Given the description of an element on the screen output the (x, y) to click on. 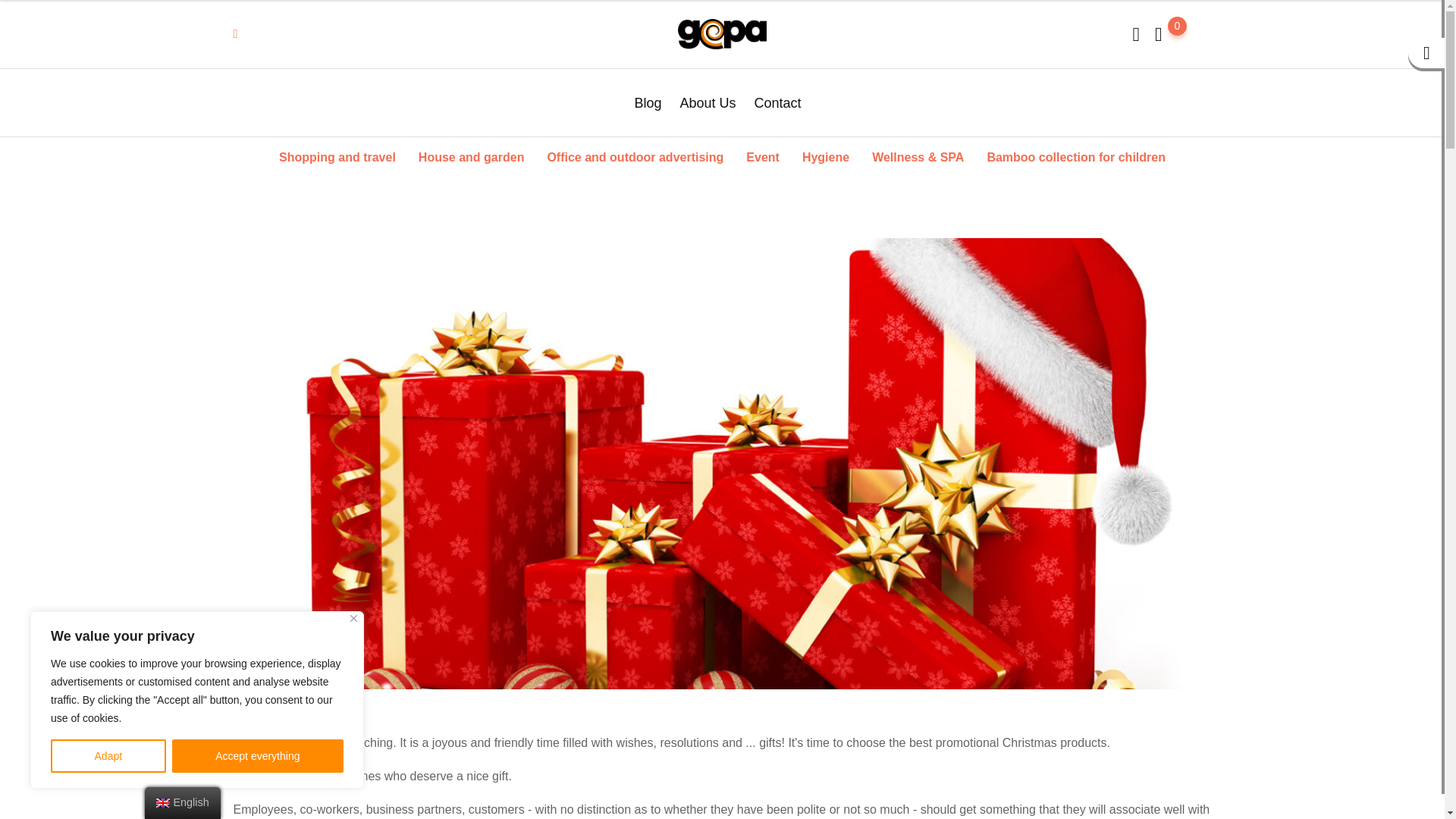
Shopping and travel (337, 156)
Accept everything (257, 756)
About Us (706, 102)
Blog (651, 102)
0 (1157, 34)
Event (762, 156)
Office and outdoor advertising (635, 156)
Contact (777, 102)
House and garden (471, 156)
Adapt (107, 756)
English (162, 802)
